Given the description of an element on the screen output the (x, y) to click on. 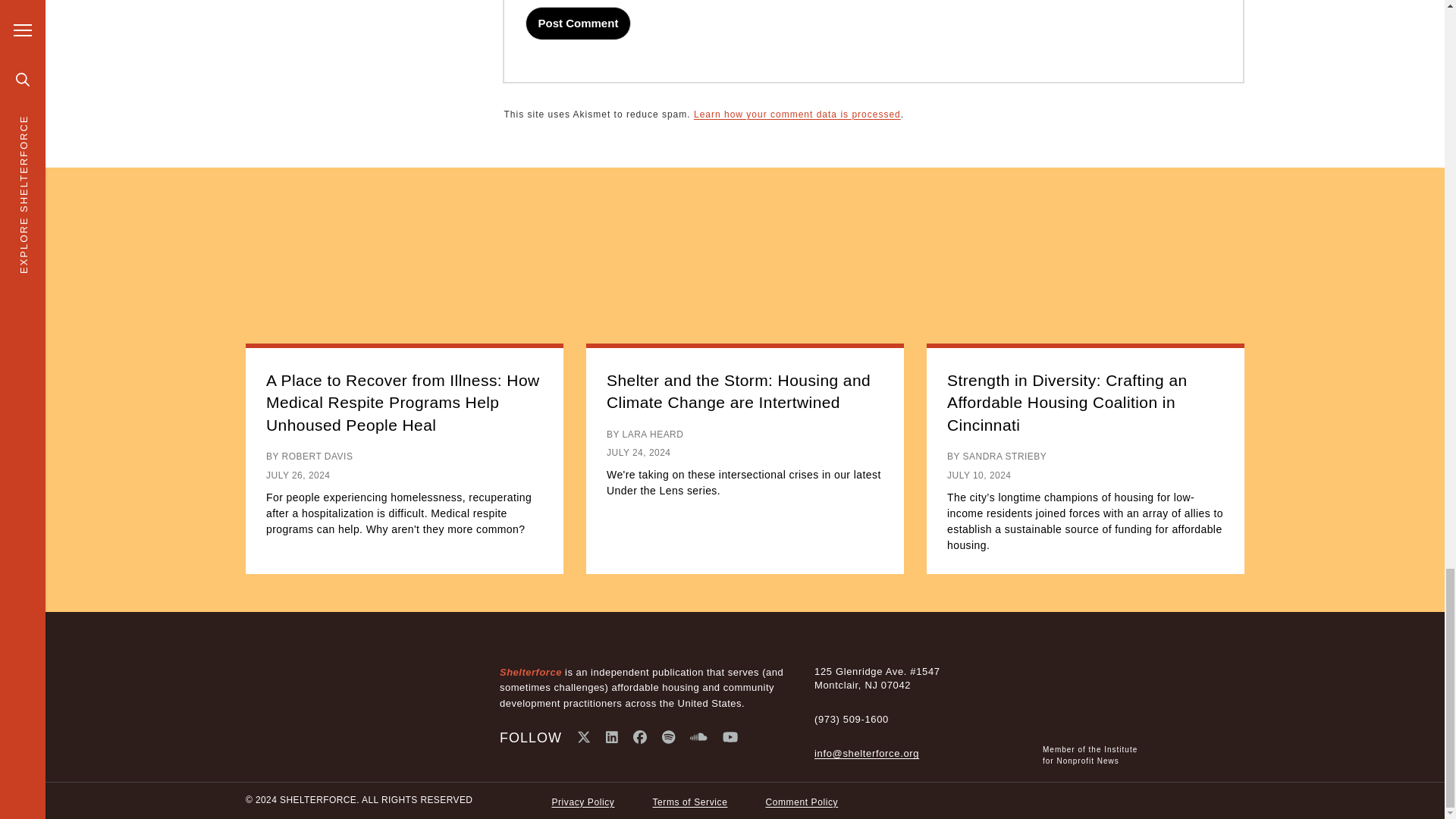
Post Comment (578, 23)
YouTube (730, 736)
Facebook (639, 736)
Soundcloud (698, 736)
Twitter (583, 736)
Spotify (668, 736)
